Given the description of an element on the screen output the (x, y) to click on. 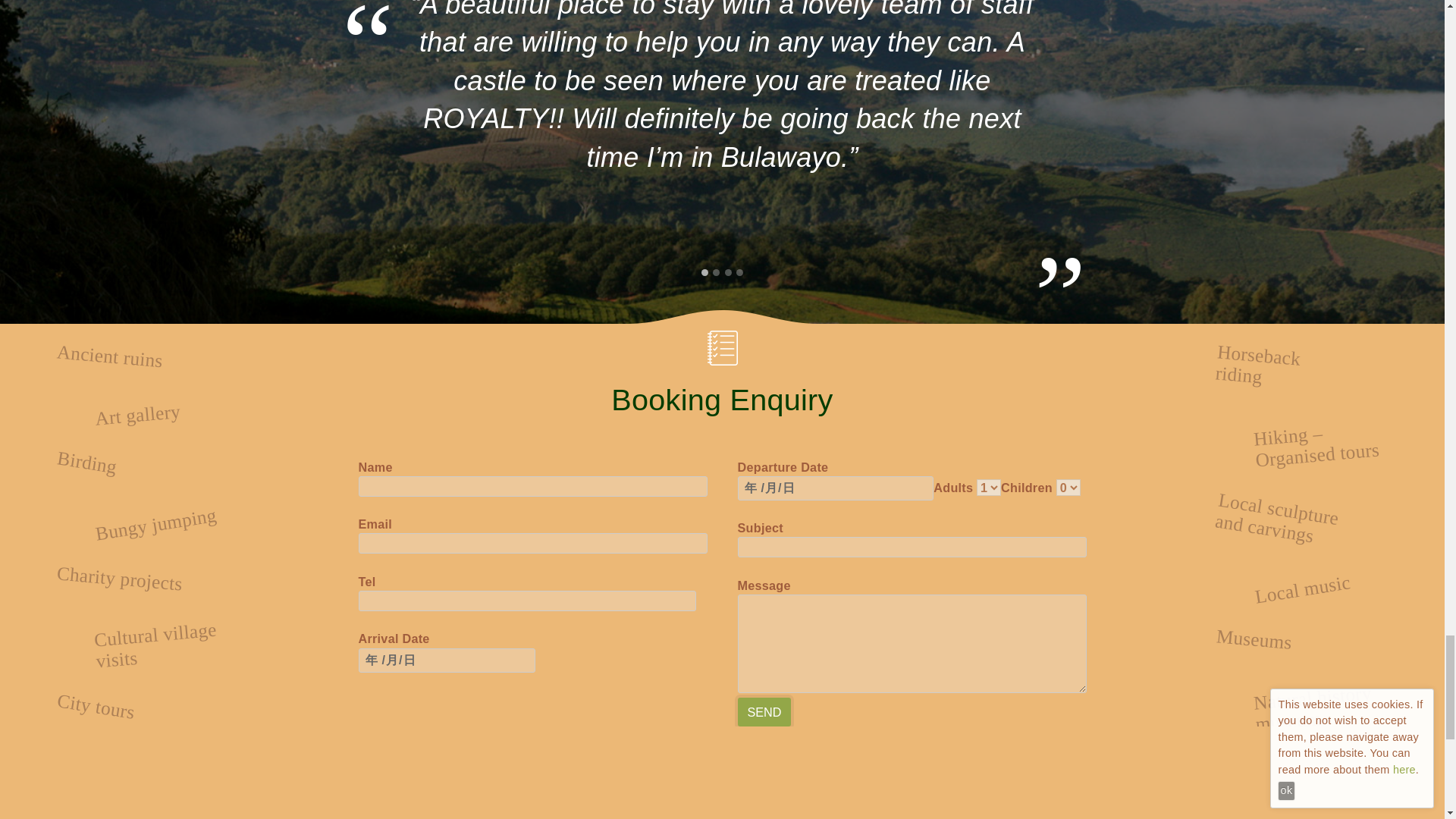
Send (763, 711)
